Given the description of an element on the screen output the (x, y) to click on. 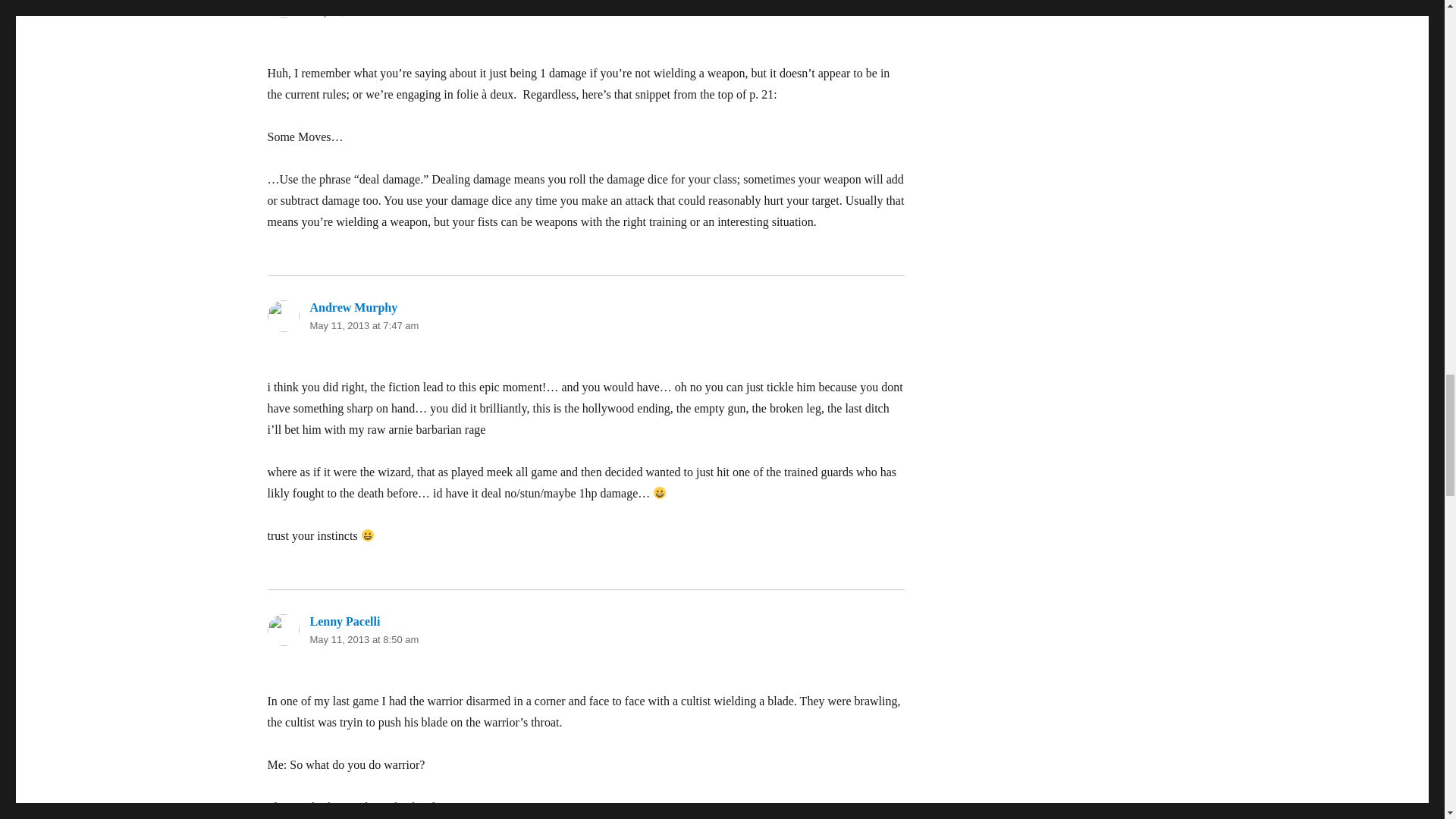
Andrew Murphy (352, 307)
May 11, 2013 at 8:50 am (363, 639)
May 11, 2013 at 7:29 am (363, 11)
Lenny Pacelli (344, 621)
May 11, 2013 at 7:47 am (363, 325)
